Given the description of an element on the screen output the (x, y) to click on. 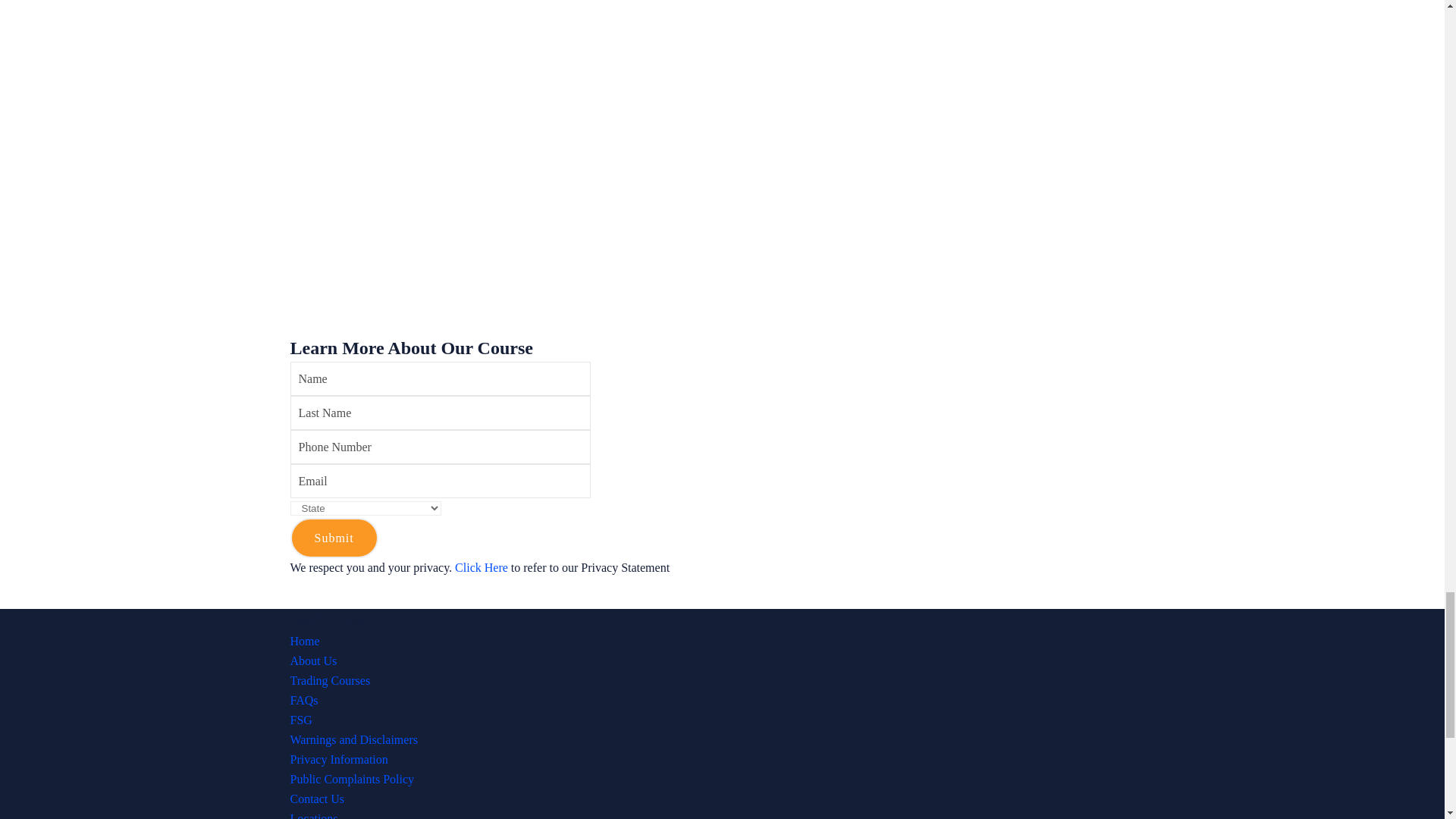
Submit (333, 537)
